Given the description of an element on the screen output the (x, y) to click on. 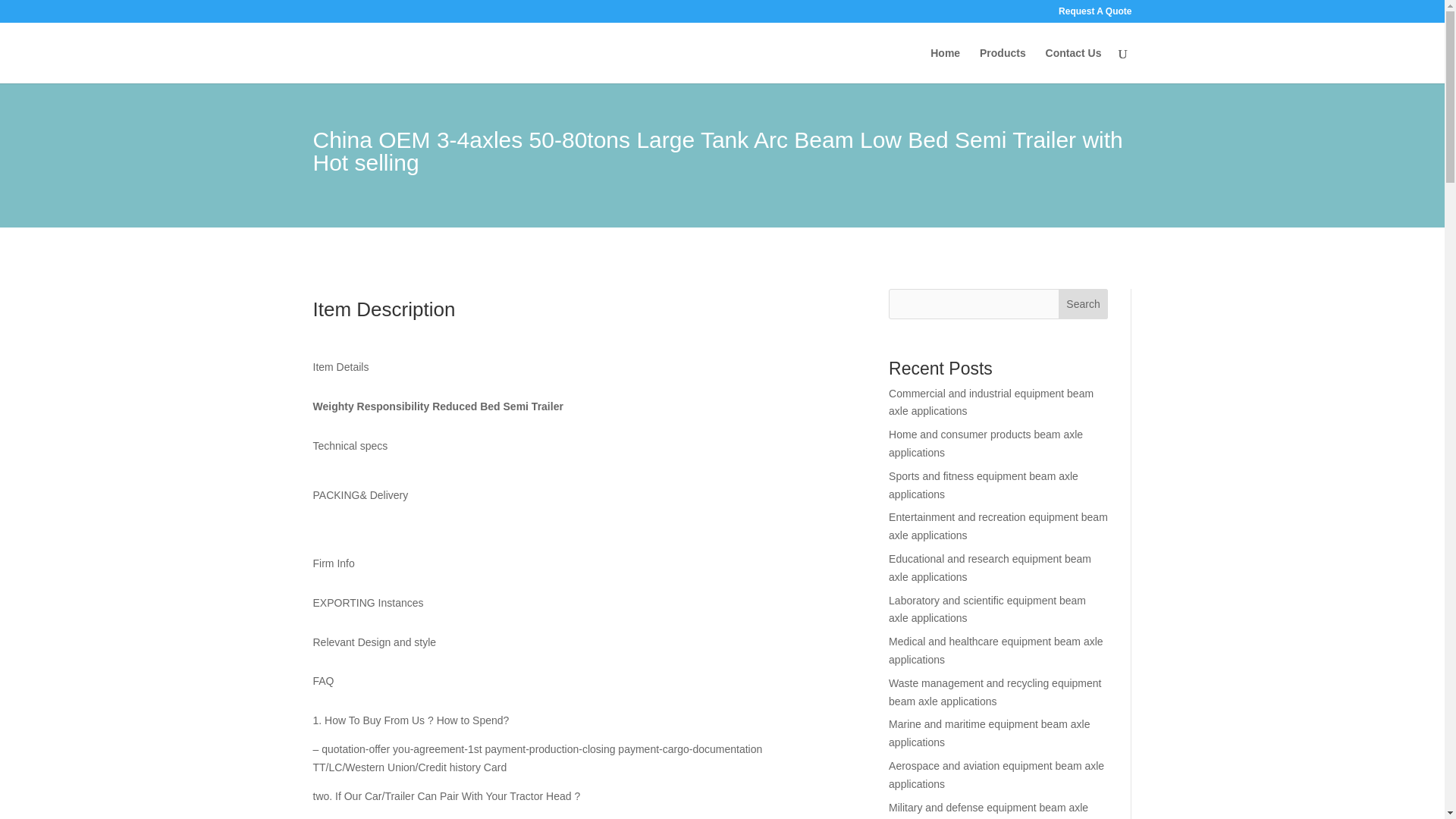
Commercial and industrial equipment beam axle applications (990, 402)
Laboratory and scientific equipment beam axle applications (987, 609)
Military and defense equipment beam axle applications (987, 810)
Sports and fitness equipment beam axle applications (983, 485)
Home (944, 65)
Request A Quote (1094, 14)
Contact Us (1073, 65)
Medical and healthcare equipment beam axle applications (995, 650)
Marine and maritime equipment beam axle applications (988, 733)
Educational and research equipment beam axle applications (989, 567)
Home and consumer products beam axle applications (985, 443)
Aerospace and aviation equipment beam axle applications (995, 775)
Products (1002, 65)
